Given the description of an element on the screen output the (x, y) to click on. 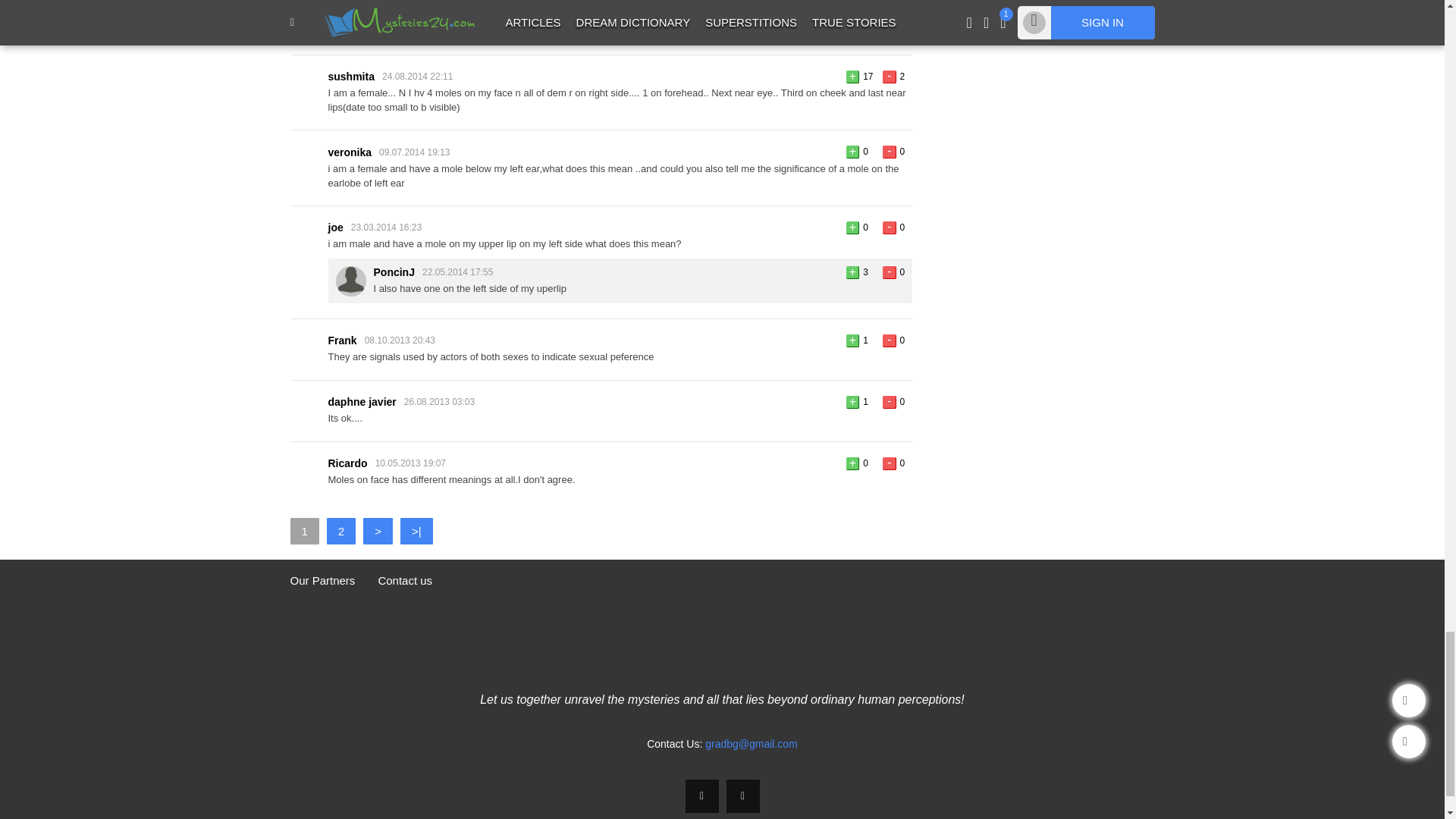
Don't like (888, 151)
Like (852, 227)
Like (852, 151)
Like (852, 340)
Don't like (888, 340)
2 (340, 530)
Don't like (888, 76)
Like (852, 15)
Don't like (888, 227)
Like (852, 272)
Don't like (888, 15)
Like (852, 401)
Like (852, 76)
Don't like (888, 272)
